Given the description of an element on the screen output the (x, y) to click on. 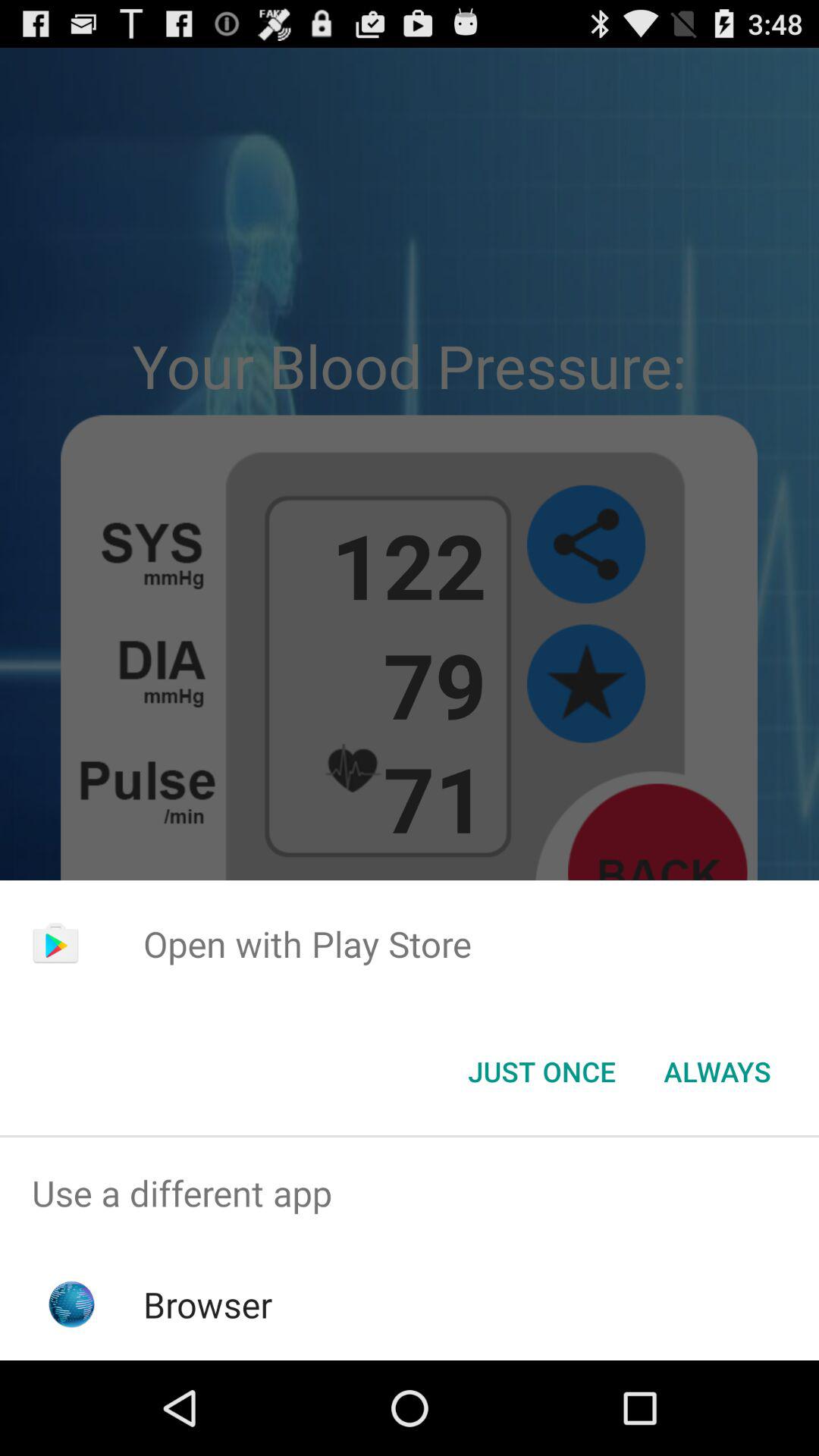
press item at the bottom right corner (717, 1071)
